Given the description of an element on the screen output the (x, y) to click on. 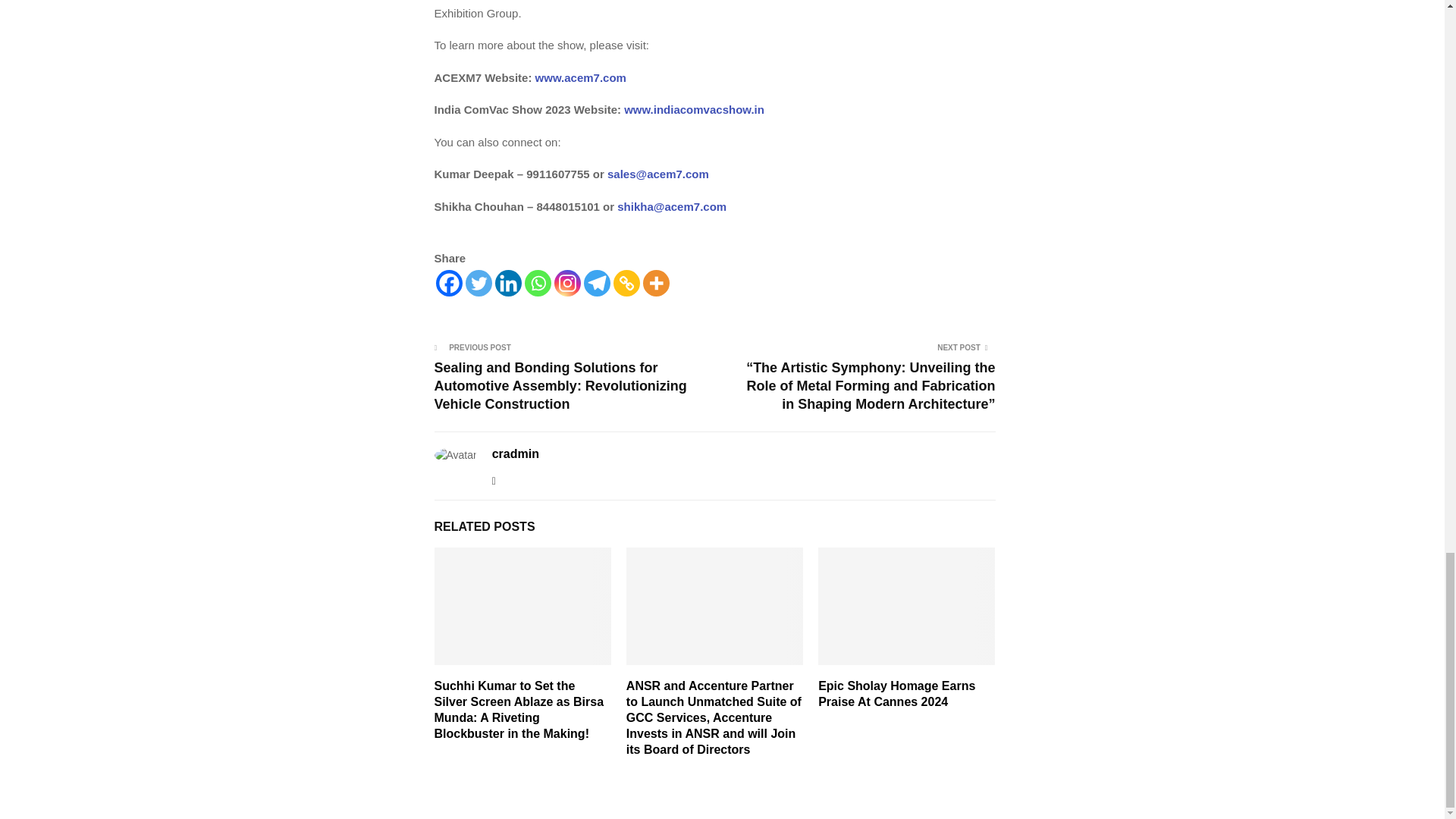
Twitter (478, 283)
Facebook (448, 283)
Linkedin (508, 283)
www.acem7.com (578, 77)
www.indiacomvacshow.in (692, 109)
